Given the description of an element on the screen output the (x, y) to click on. 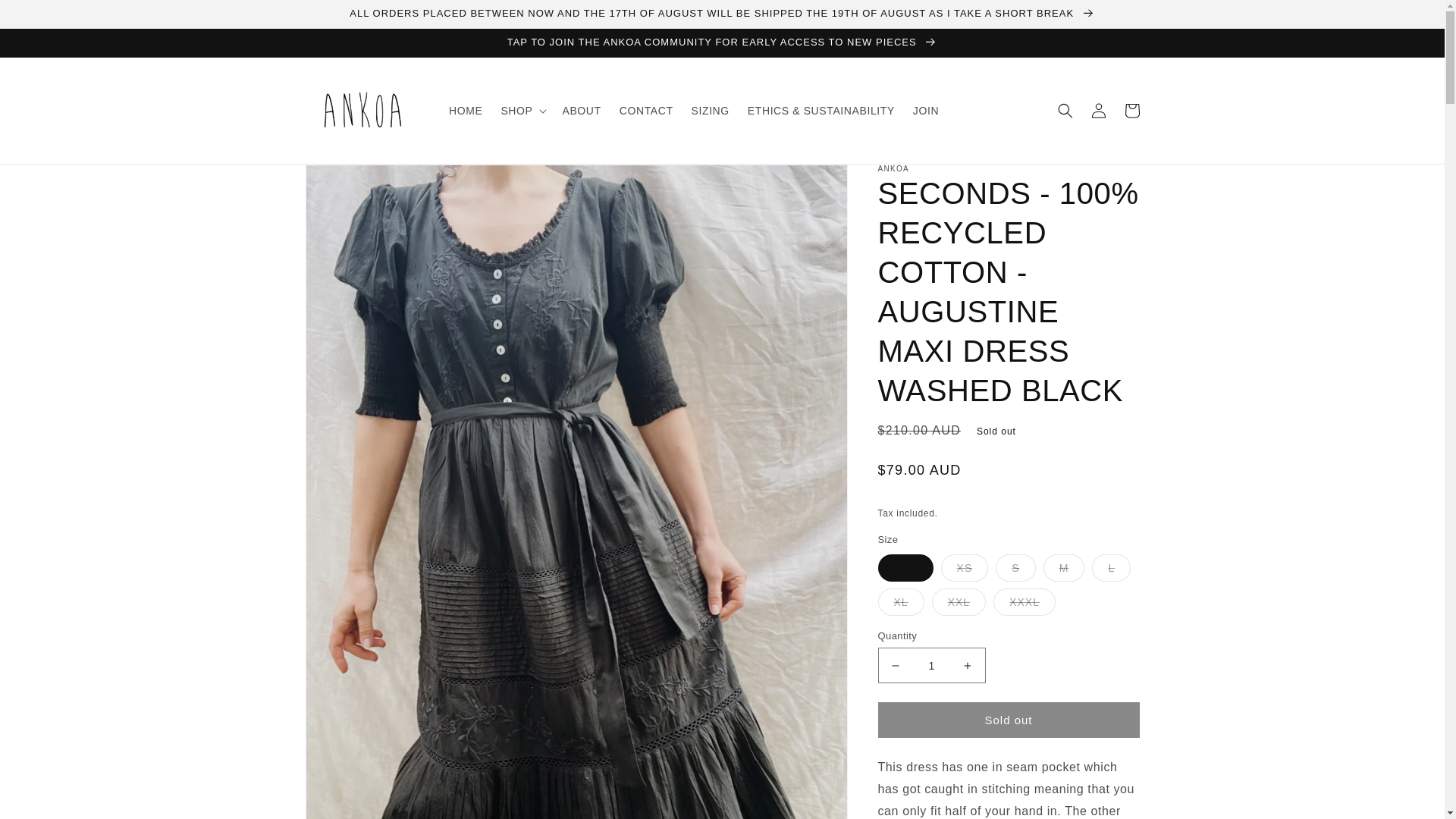
CONTACT (646, 110)
SIZING (710, 110)
Skip to content (45, 17)
1 (931, 665)
ABOUT (581, 110)
